Given the description of an element on the screen output the (x, y) to click on. 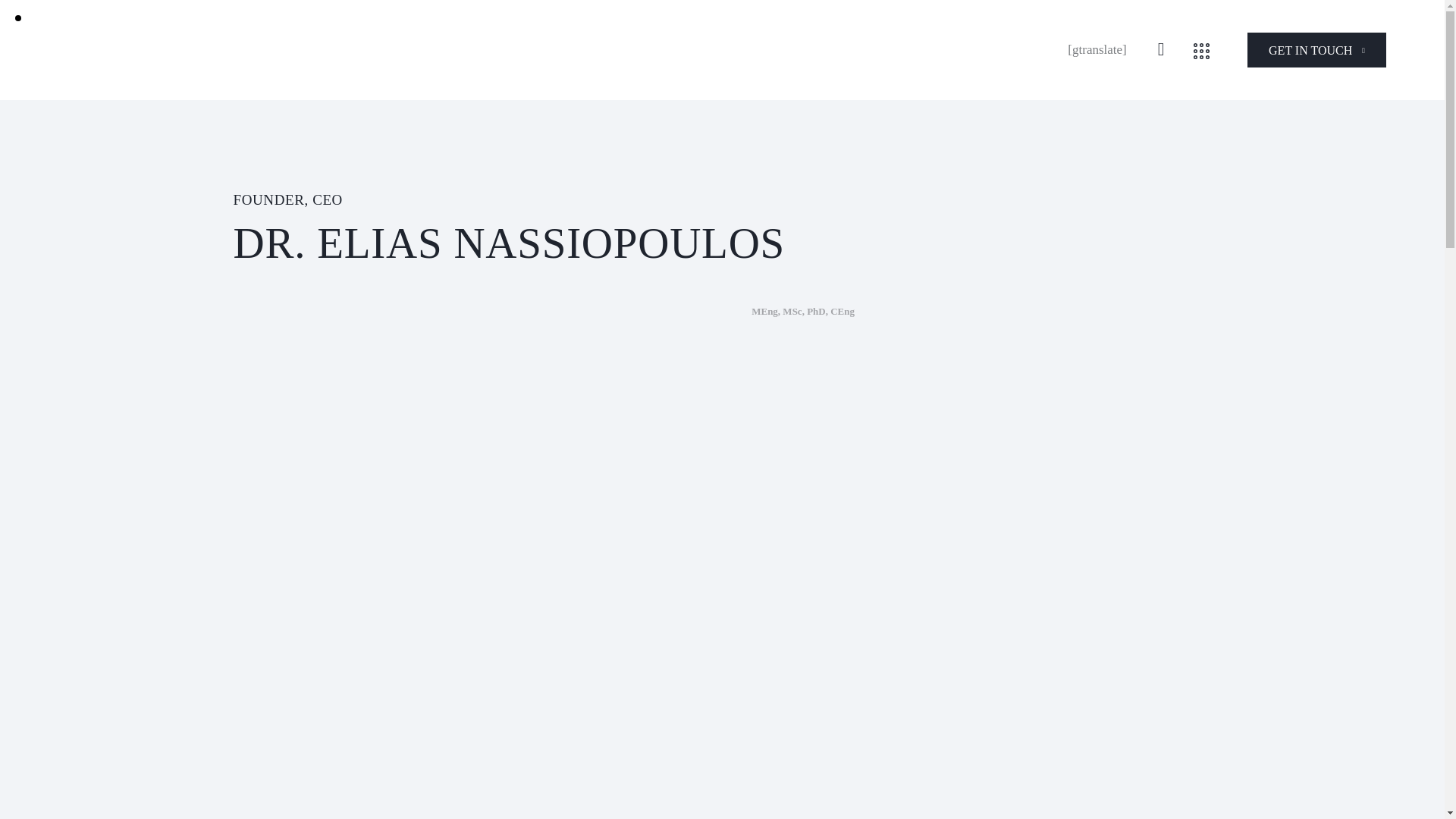
GET IN TOUCH (1316, 49)
